Given the description of an element on the screen output the (x, y) to click on. 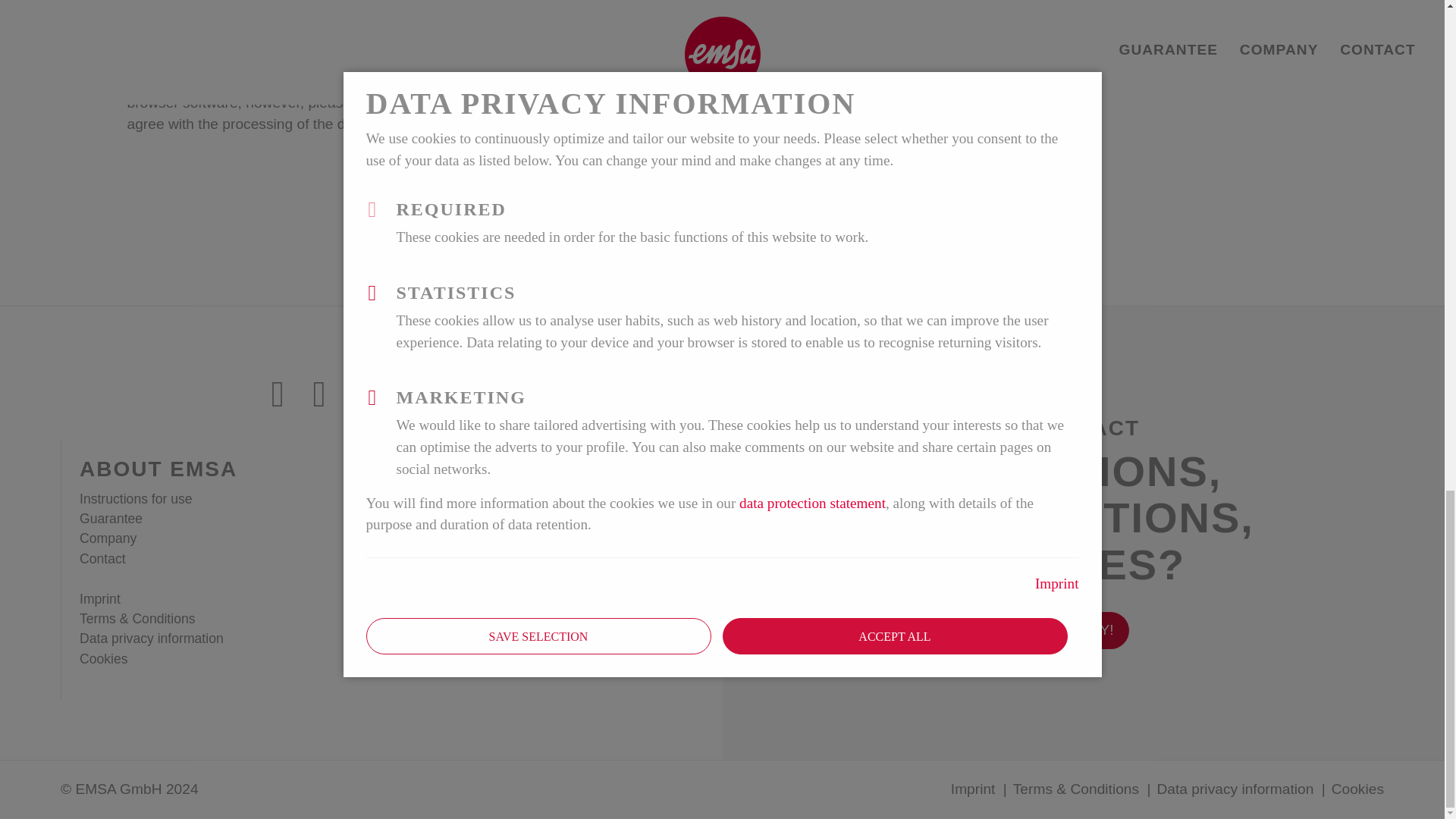
Instructions for use (136, 498)
Cookies (104, 658)
Imprint (100, 598)
GLADLY! (1083, 627)
Company (108, 538)
Data privacy information (152, 638)
Contact (102, 558)
Guarantee (111, 518)
